Given the description of an element on the screen output the (x, y) to click on. 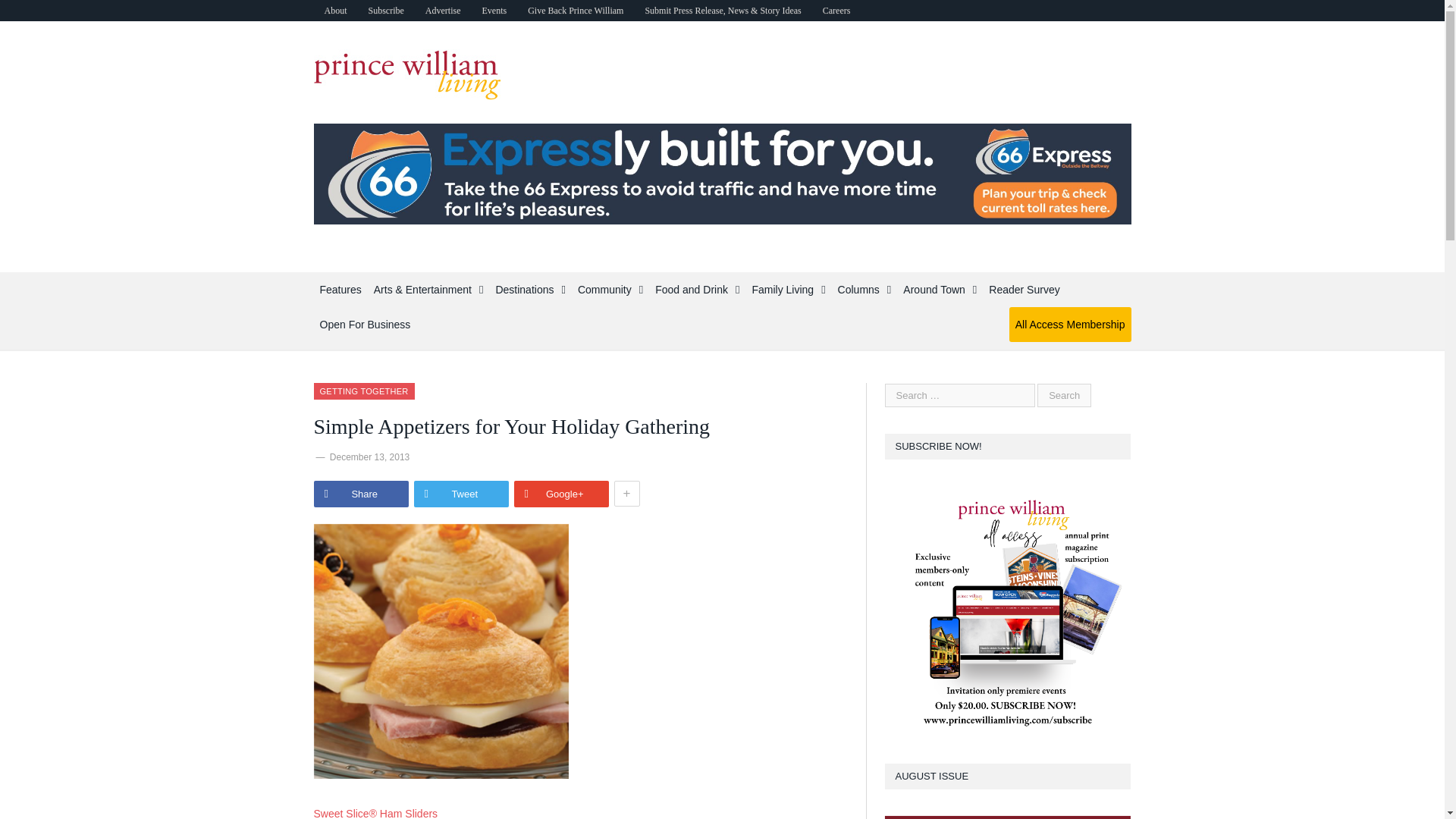
Local Prince William Events (493, 10)
Events (493, 10)
Simple Appetizers for Your Holiday Gathering (441, 651)
Subscribe (386, 10)
Give Back Prince William (574, 10)
Advertise (443, 10)
About (335, 10)
Search (1063, 395)
getting together (364, 390)
